Given the description of an element on the screen output the (x, y) to click on. 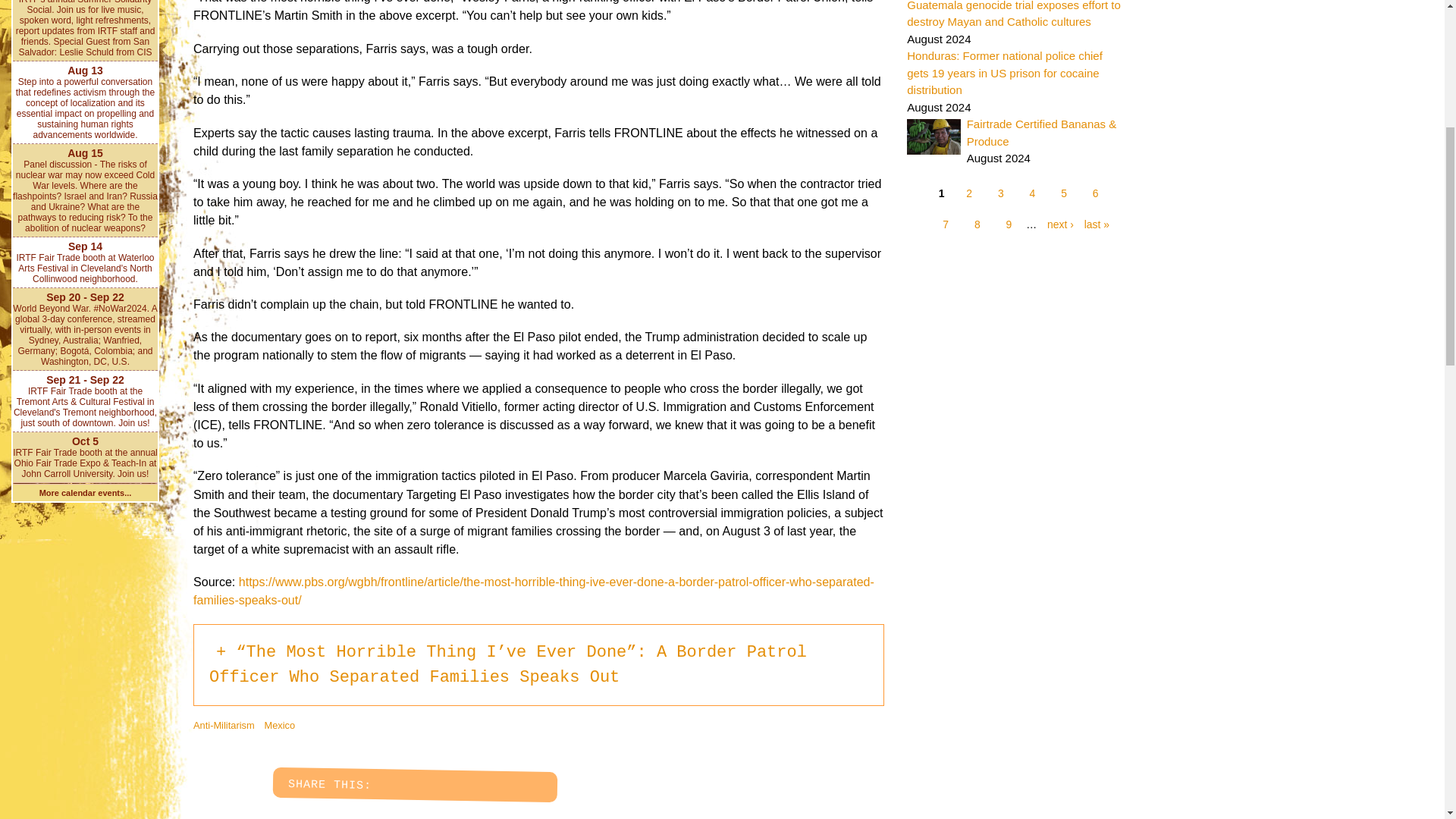
Go to next page (1056, 224)
Go to page 9 (1008, 224)
Go to last page (1093, 224)
Go to page 2 (969, 193)
Go to page 3 (1000, 193)
Go to page 8 (976, 224)
Go to page 7 (945, 224)
Go to page 5 (1063, 193)
Go to page 6 (1095, 193)
Go to page 4 (1031, 193)
